Given the description of an element on the screen output the (x, y) to click on. 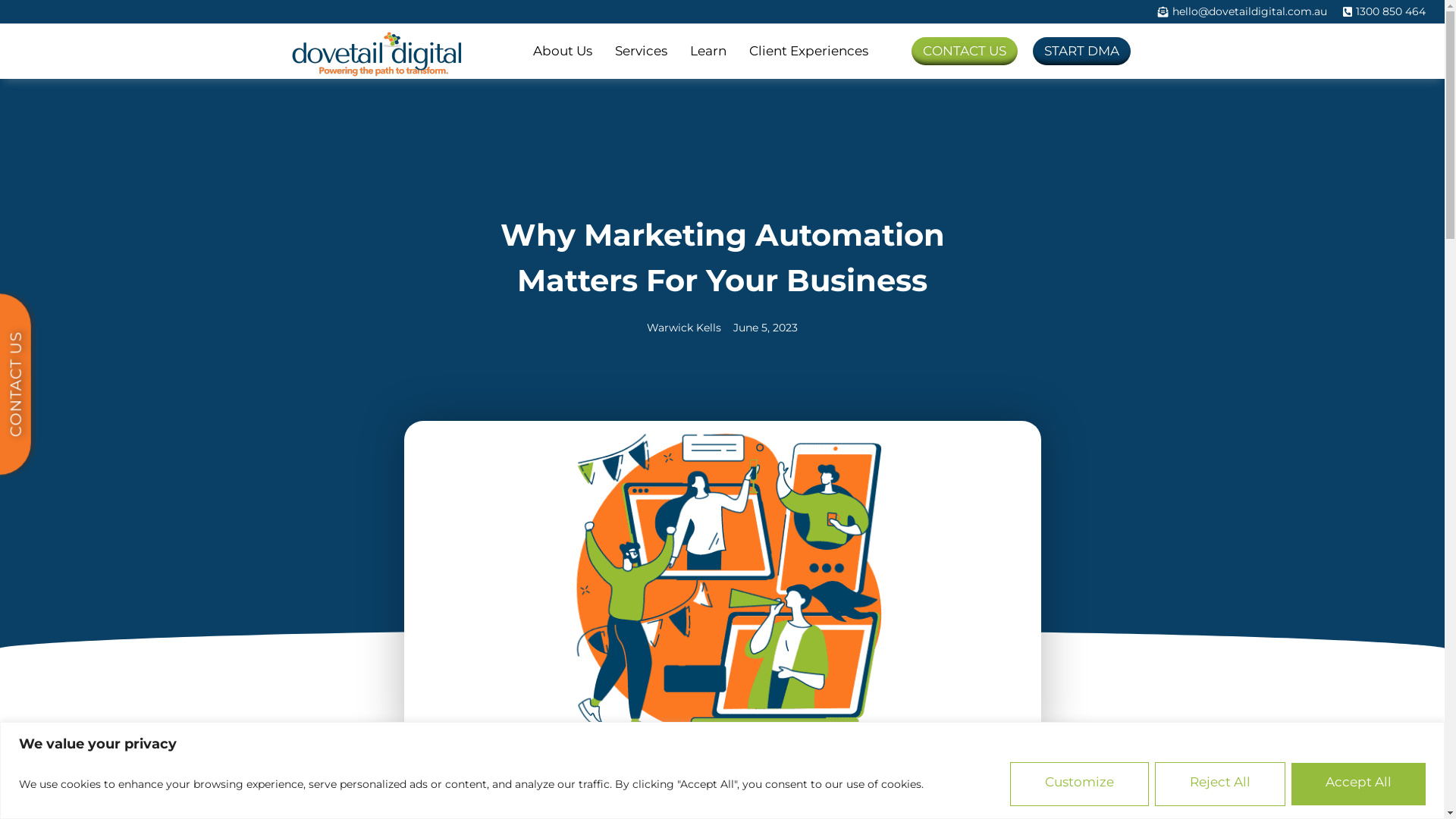
hello@dovetaildigital.com.au Element type: text (1240, 11)
Accept All Element type: text (1358, 783)
Services Element type: text (640, 51)
About Us Element type: text (562, 51)
Reject All Element type: text (1219, 784)
Warwick Kells Element type: text (683, 328)
Learn Element type: text (707, 51)
marketing matters Element type: hover (721, 583)
Client Experiences Element type: text (808, 51)
CONTACT US Element type: text (59, 340)
1300 850 464 Element type: text (1382, 11)
CONTACT US Element type: text (964, 51)
START DMA Element type: text (1081, 51)
Customize Element type: text (1079, 784)
